Given the description of an element on the screen output the (x, y) to click on. 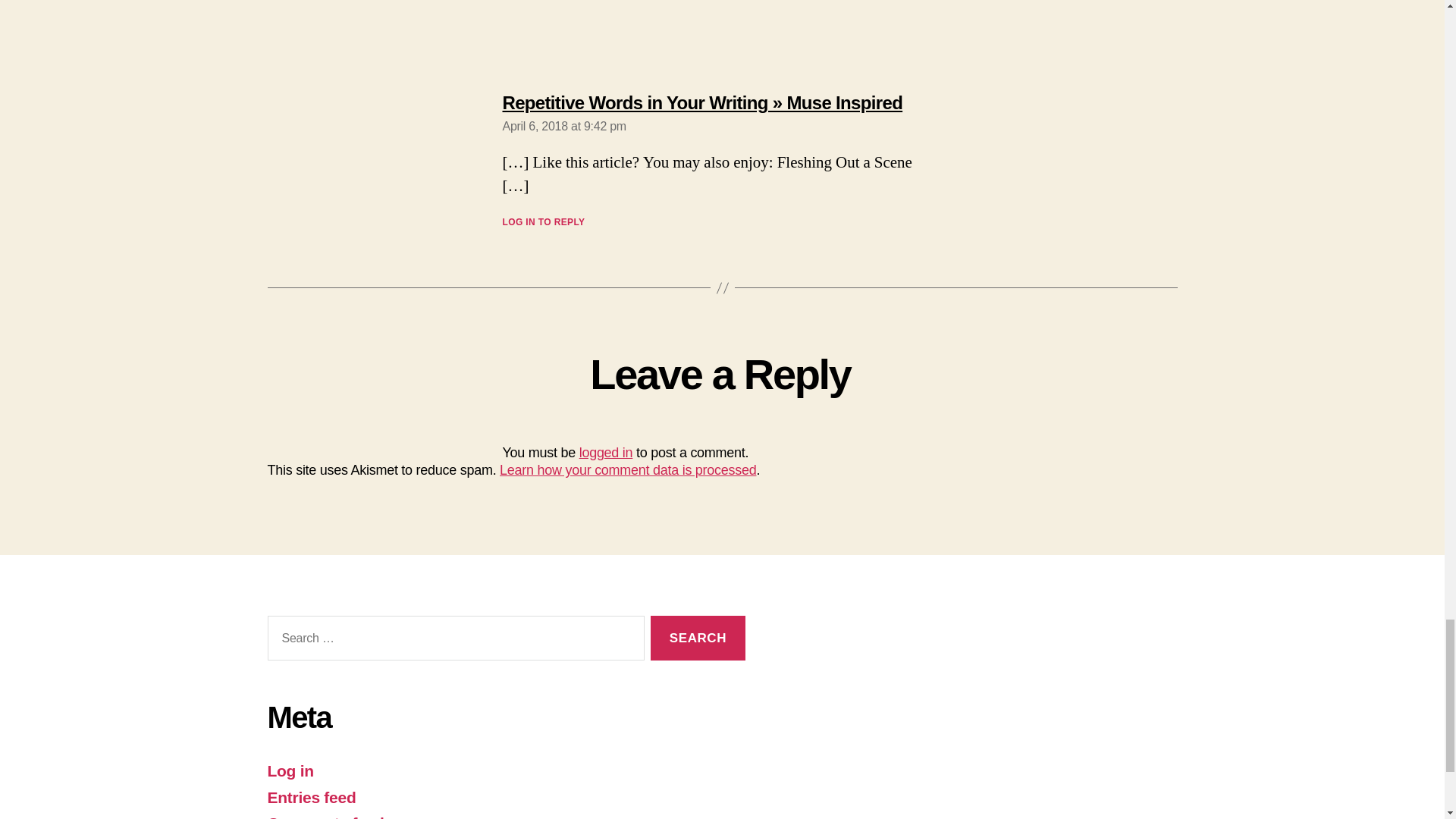
Search (697, 637)
Search (697, 637)
